Given the description of an element on the screen output the (x, y) to click on. 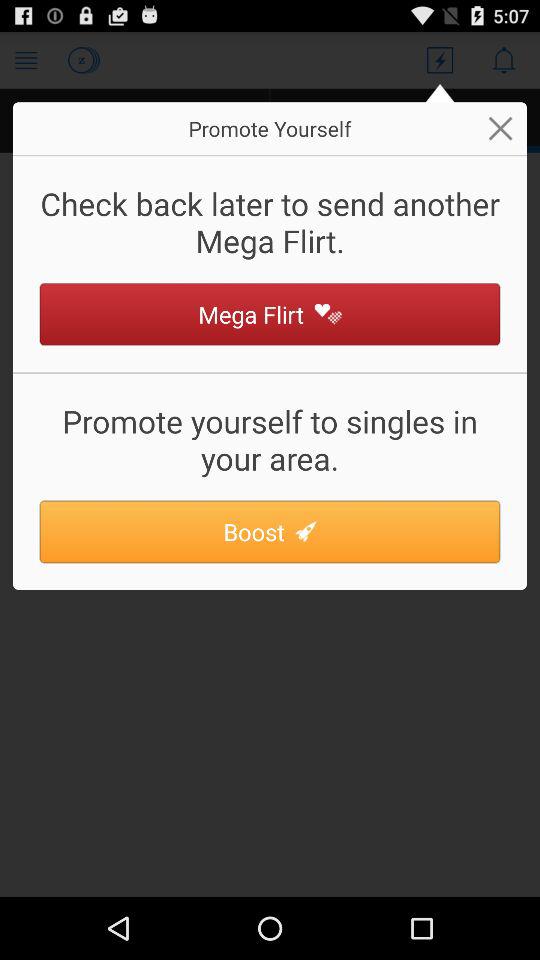
close button (500, 128)
